Given the description of an element on the screen output the (x, y) to click on. 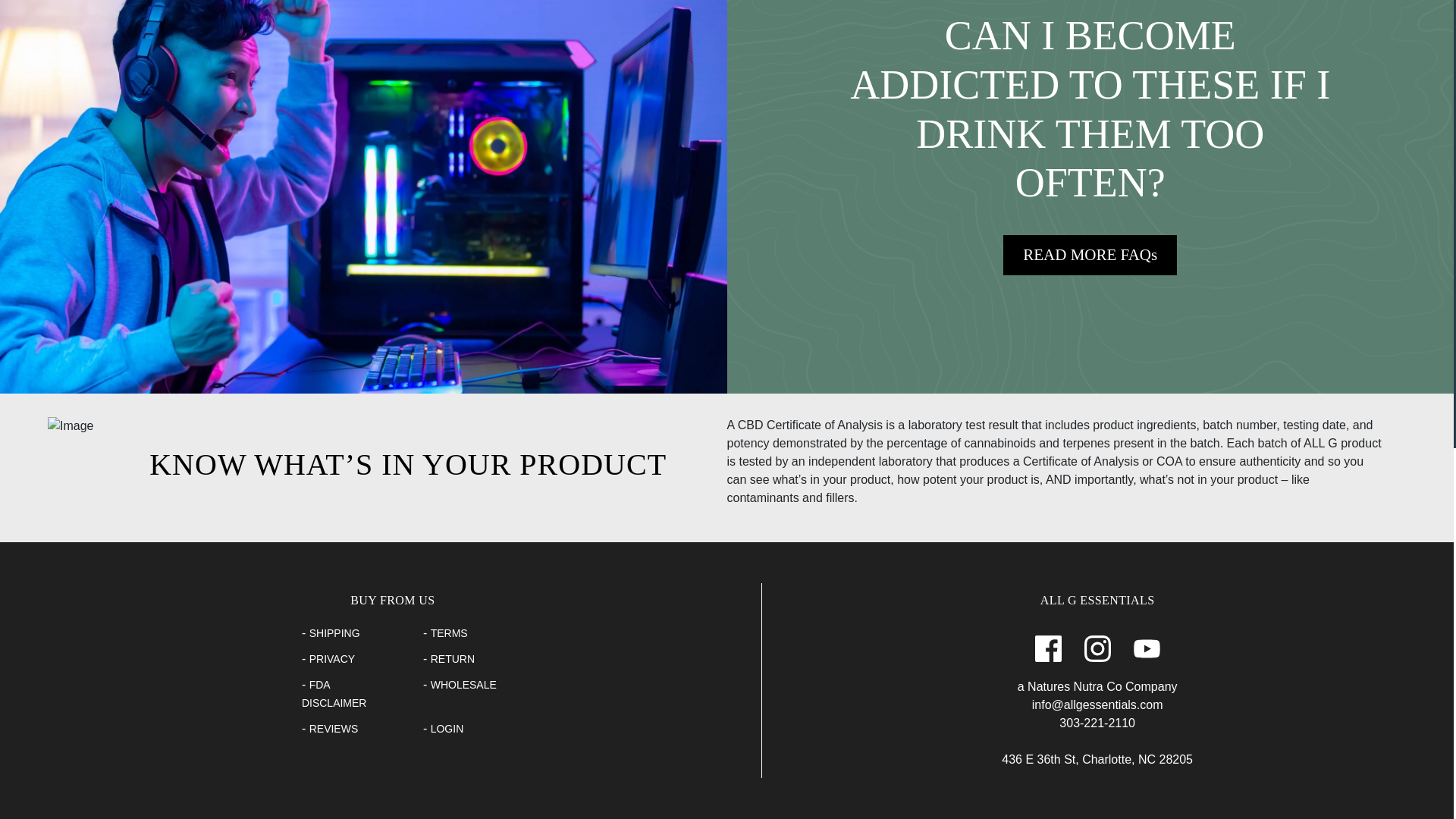
READ MORE FAQs (1089, 255)
Reviews (333, 728)
Privacy (331, 658)
Wholesale (463, 684)
FDA Disclaimer (333, 693)
Shipping (333, 633)
Login (447, 728)
Return (452, 658)
Terms (448, 633)
